Given the description of an element on the screen output the (x, y) to click on. 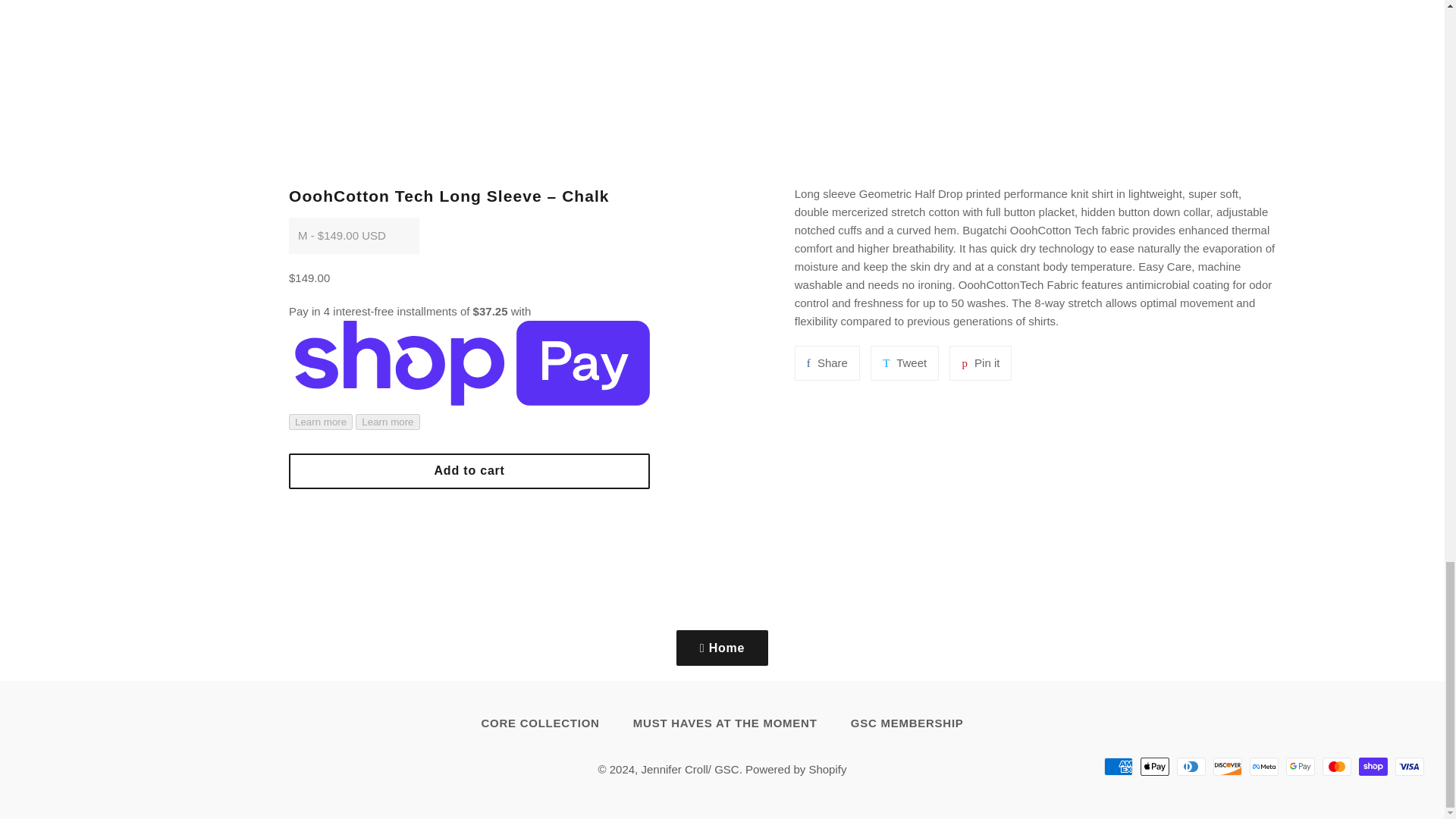
Powered by Shopify (795, 768)
GSC MEMBERSHIP (906, 722)
American Express (1117, 766)
Visa (1408, 766)
Share on Facebook (827, 362)
Add to cart (904, 362)
Diners Club (468, 470)
Meta Pay (1190, 766)
CORE COLLECTION (980, 362)
Discover (1263, 766)
Mastercard (539, 722)
Apple Pay (1226, 766)
Tweet on Twitter (1336, 766)
